Given the description of an element on the screen output the (x, y) to click on. 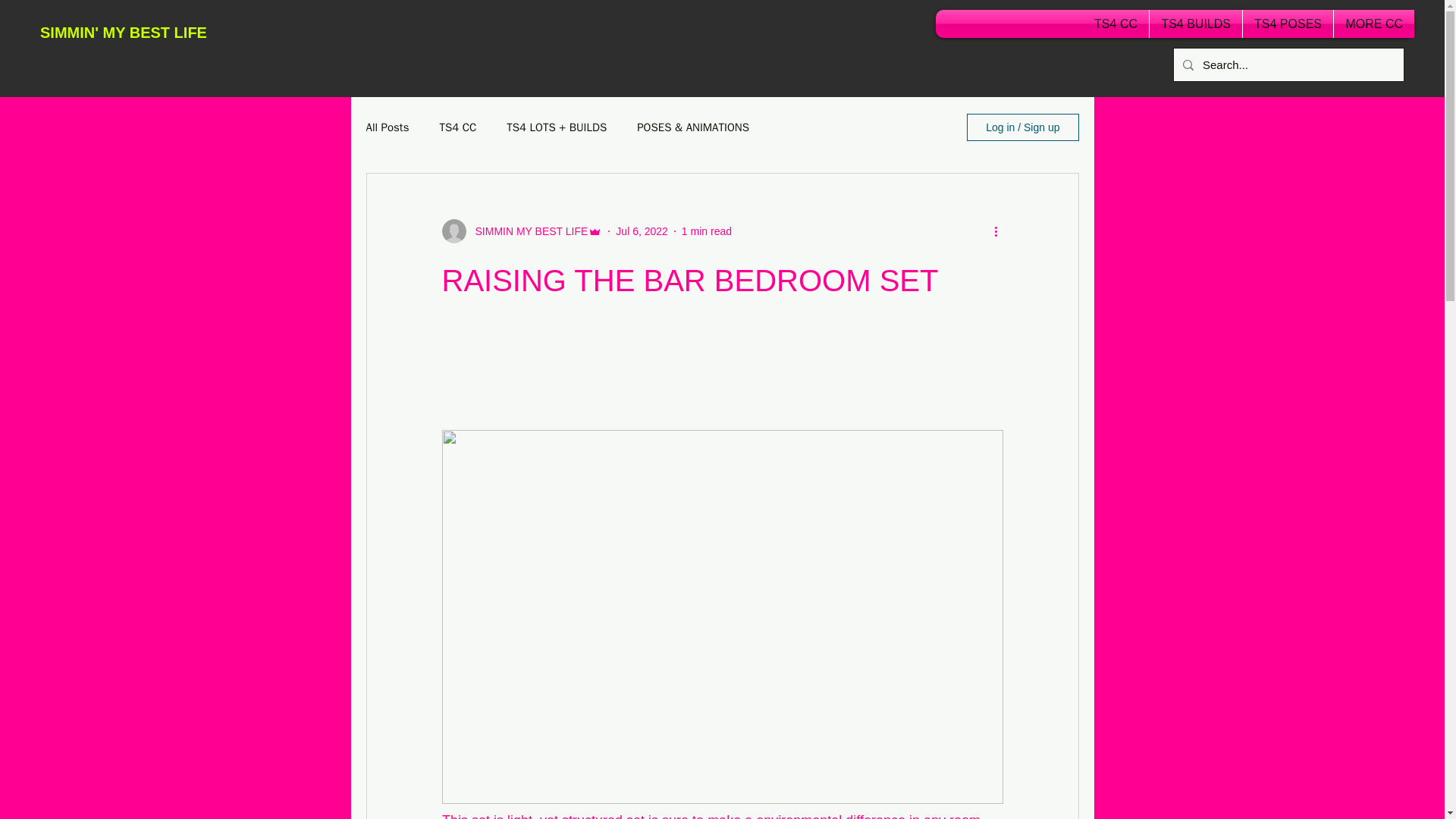
SIMMIN MY BEST LIFE (526, 230)
TS4 BUILDS (1195, 23)
TS4 CC (457, 126)
TS4 POSES (1288, 23)
All Posts (387, 126)
1 min read (706, 230)
TS4 CC (1115, 23)
SIMMIN' MY BEST LIFE (123, 32)
Jul 6, 2022 (641, 230)
MORE CC (1373, 23)
